Given the description of an element on the screen output the (x, y) to click on. 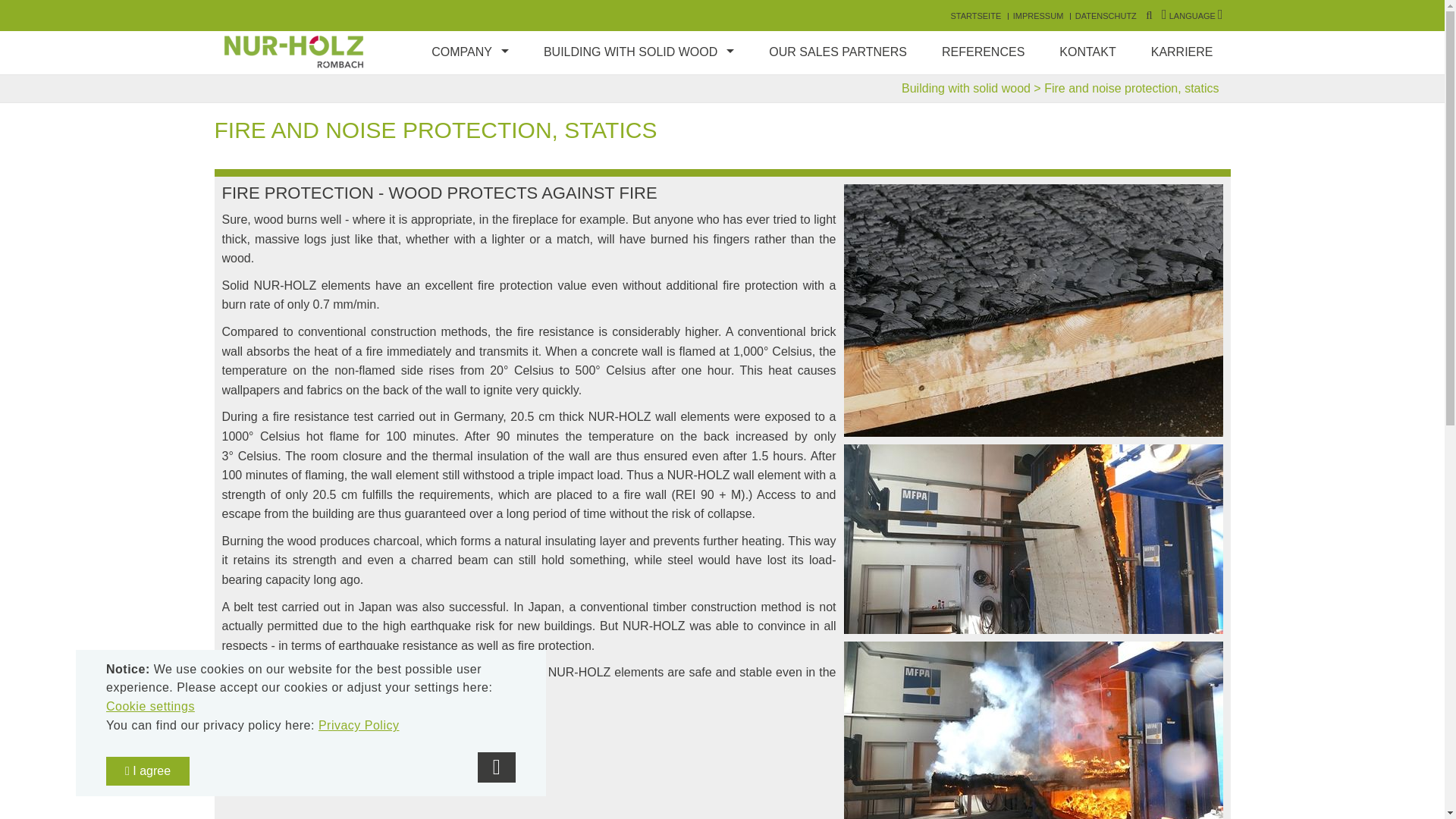
KONTAKT (1087, 52)
KARRIERE (1181, 52)
REFERENCES (983, 52)
DATENSCHUTZ (1106, 15)
OUR SALES PARTNERS (837, 52)
Kontakt (1087, 52)
IMPRESSUM (1038, 15)
BUILDING WITH SOLID WOOD (638, 52)
Our sales partners (837, 52)
Fire tests with NUR-HOLZ carried out (1033, 310)
References (983, 52)
Karriere (1181, 52)
LANGUAGE (1192, 15)
Building with solid wood (965, 88)
COMPANY (469, 52)
